Given the description of an element on the screen output the (x, y) to click on. 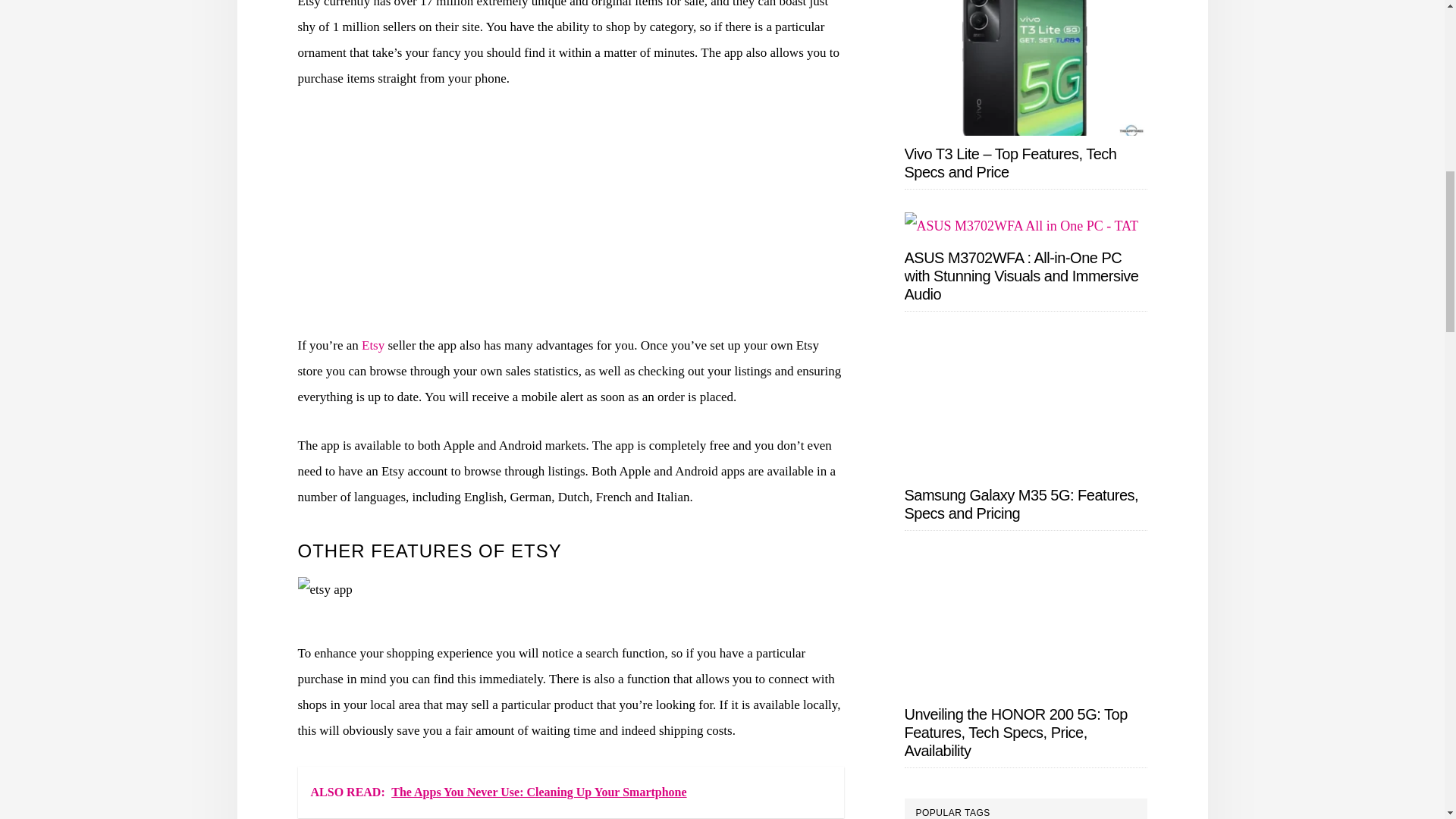
etsy app (324, 589)
Etsy (372, 345)
